Given the description of an element on the screen output the (x, y) to click on. 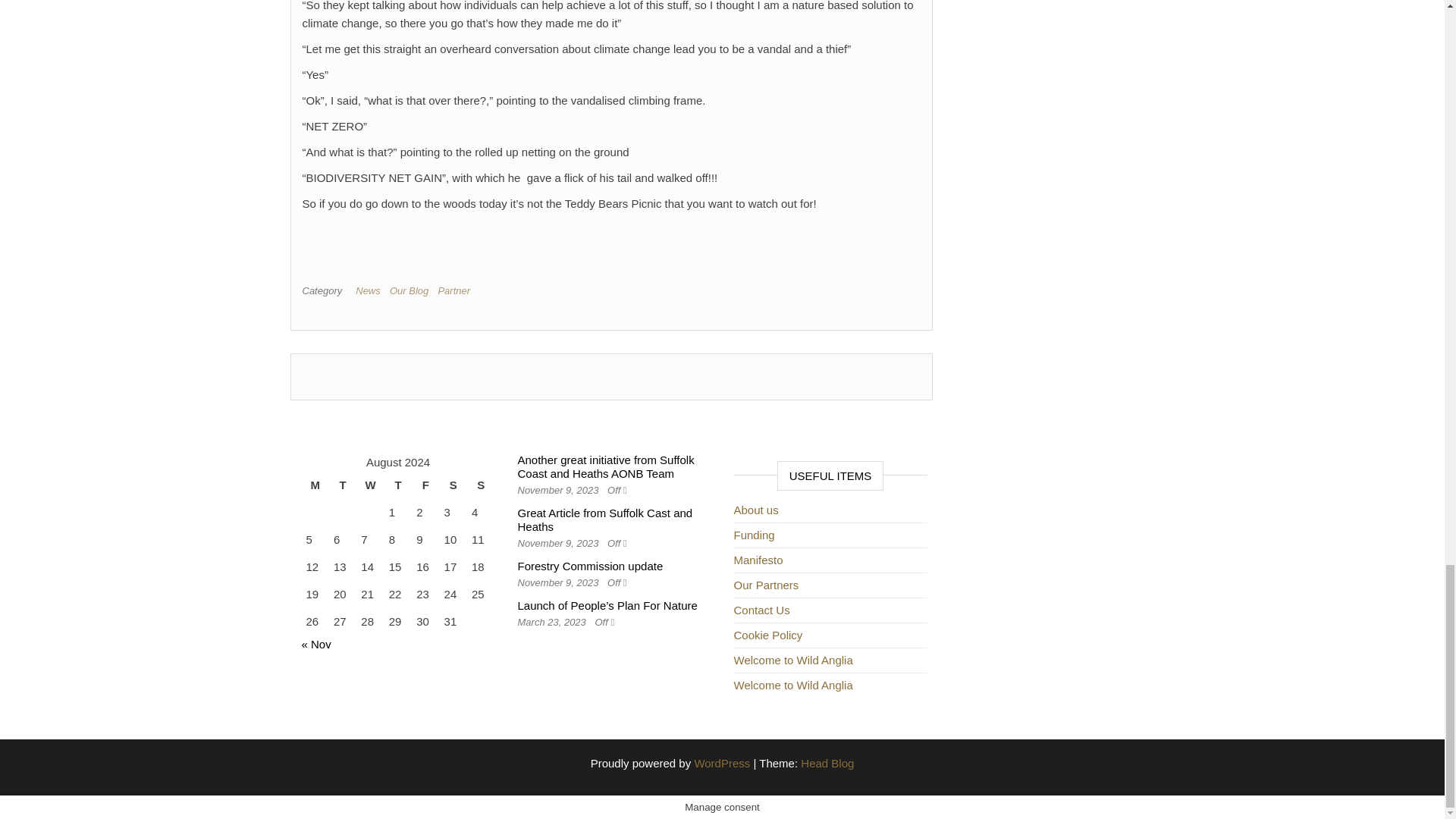
News (371, 290)
Partner (457, 290)
Our Blog (411, 290)
